Given the description of an element on the screen output the (x, y) to click on. 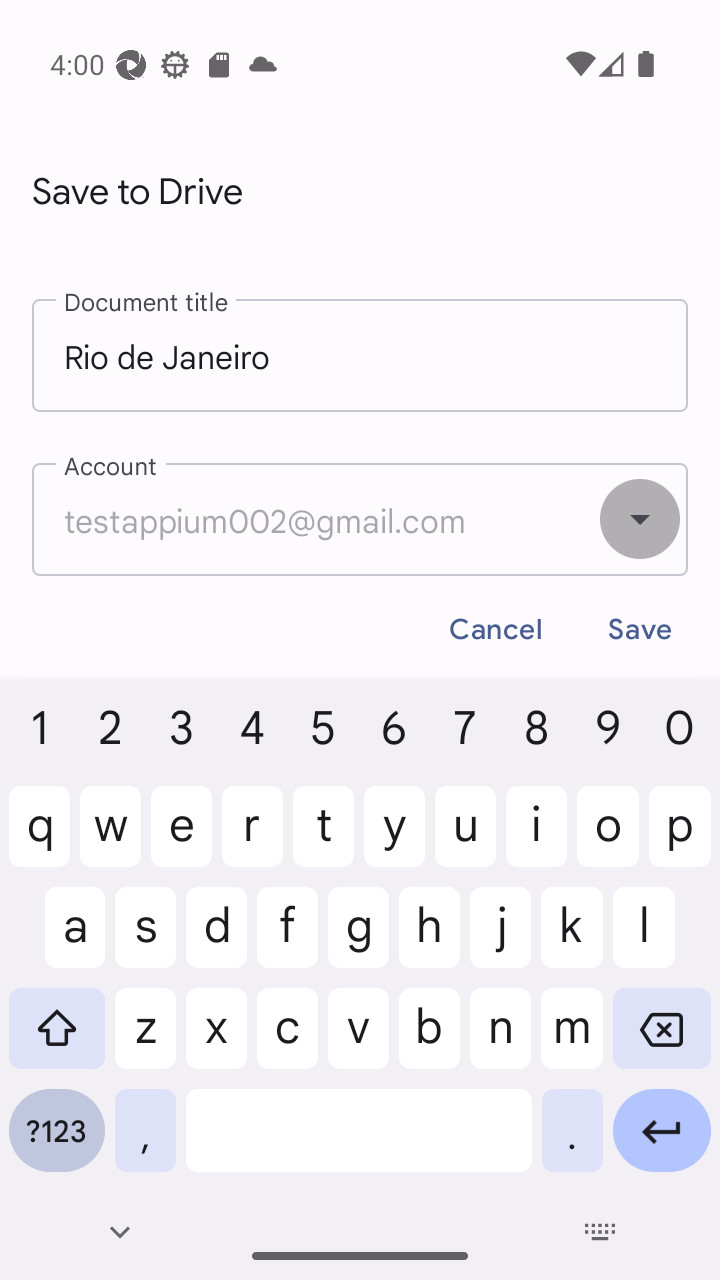
Rio de Janeiro (359, 355)
Show dropdown menu (639, 519)
Cancel (496, 630)
Save (640, 630)
